Given the description of an element on the screen output the (x, y) to click on. 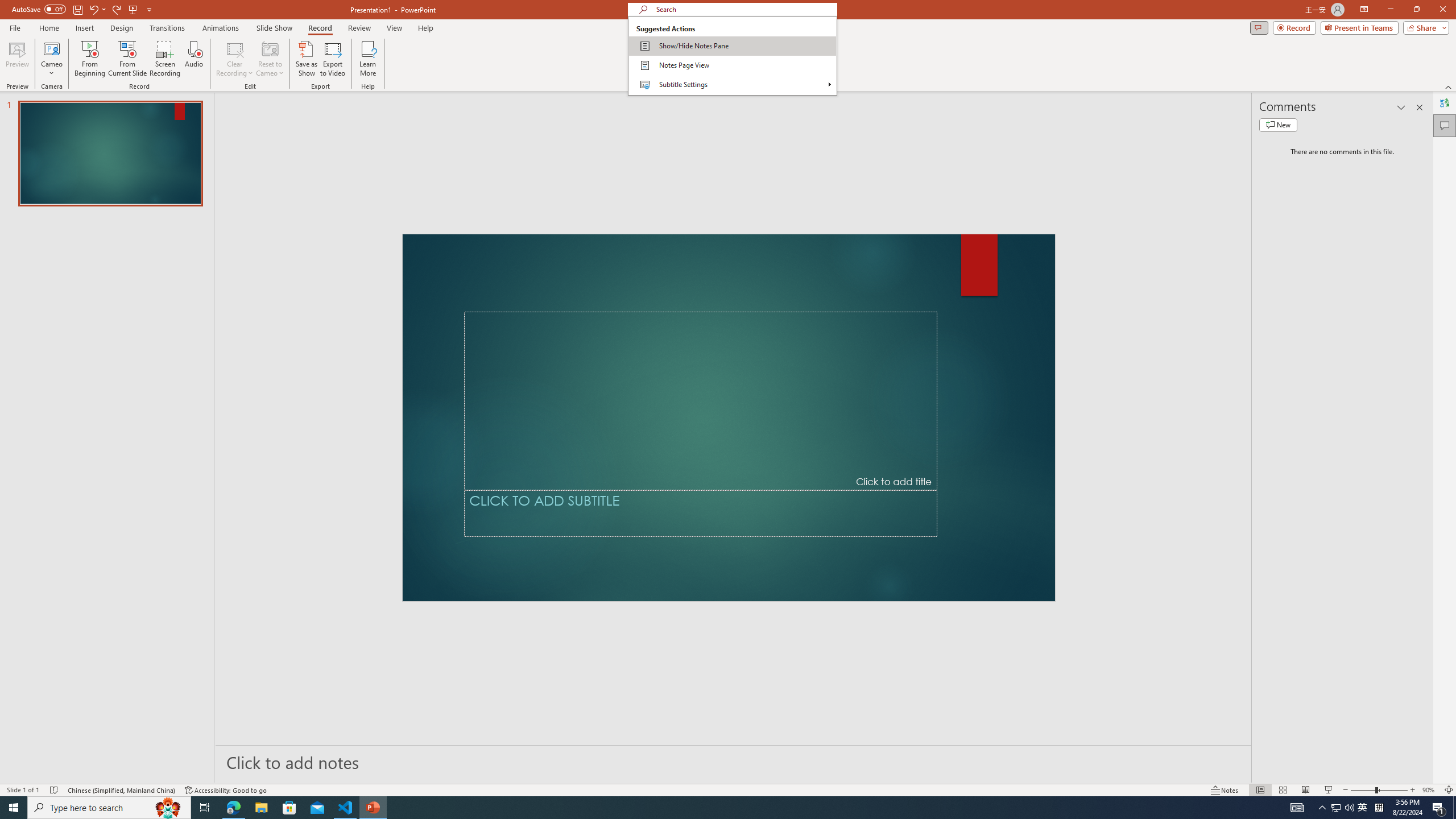
Subtitle Settings (731, 84)
Show/Hide Notes Pane (731, 45)
